Given the description of an element on the screen output the (x, y) to click on. 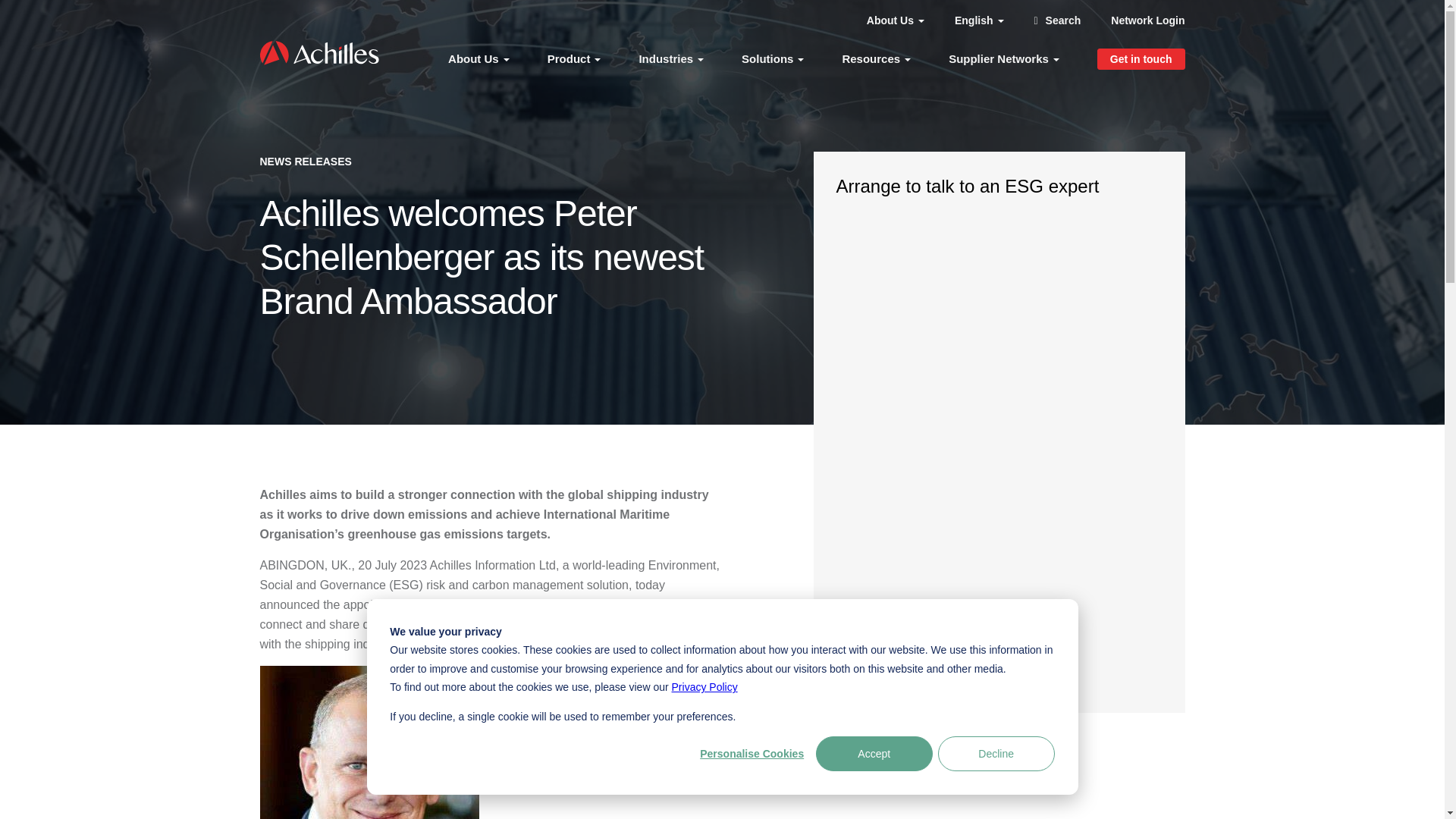
About Us (478, 58)
Industries (671, 58)
About Us (895, 20)
English (979, 20)
Product (574, 58)
Network Login (1147, 20)
Search (1057, 20)
